Given the description of an element on the screen output the (x, y) to click on. 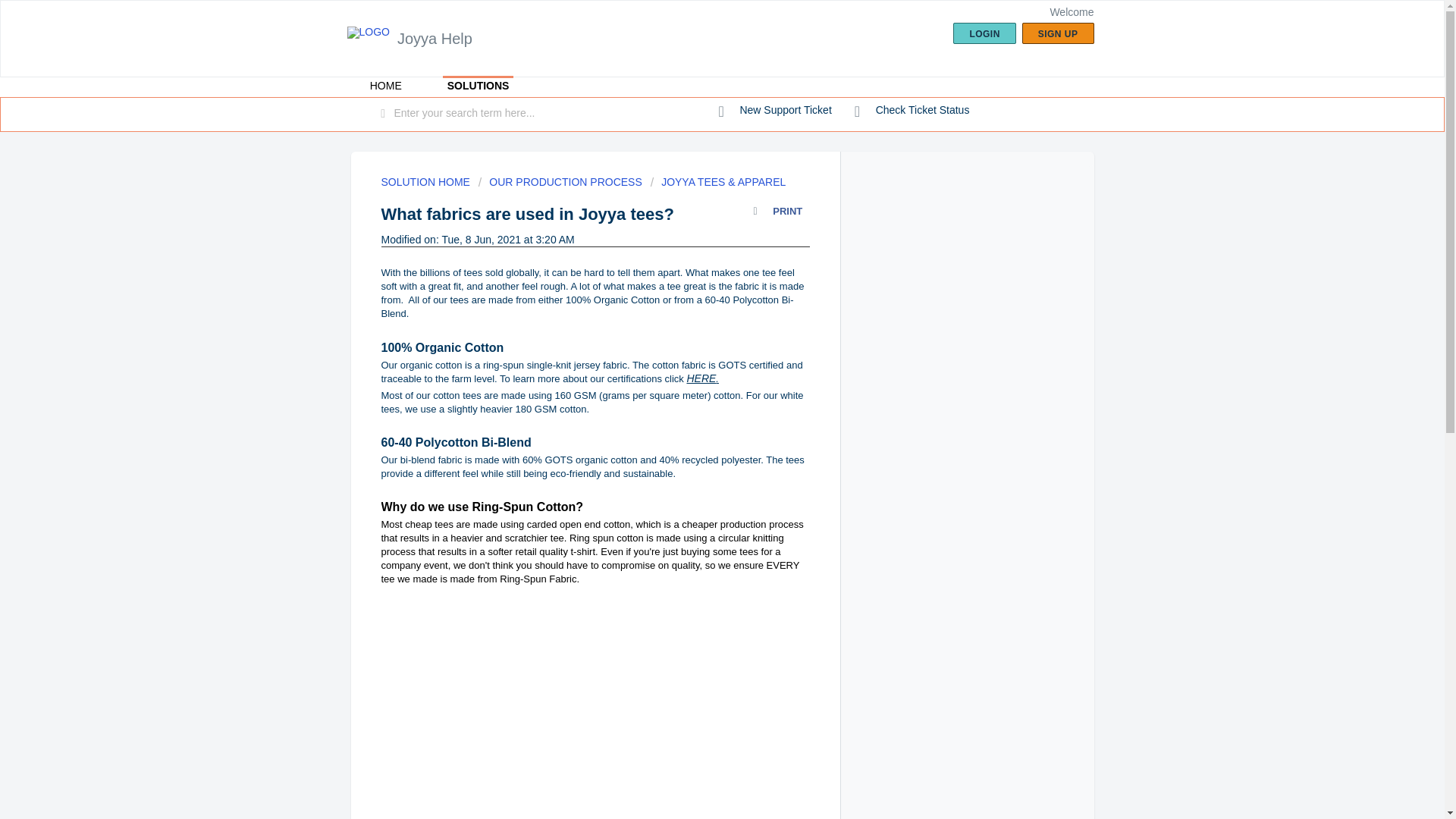
SOLUTIONS (477, 86)
PRINT (780, 213)
OUR PRODUCTION PROCESS (560, 182)
New Support Ticket (775, 111)
Check ticket status (911, 111)
Check Ticket Status (911, 111)
LOGIN (984, 33)
Print this Article (780, 213)
SIGN UP (1058, 33)
HERE (700, 377)
